Given the description of an element on the screen output the (x, y) to click on. 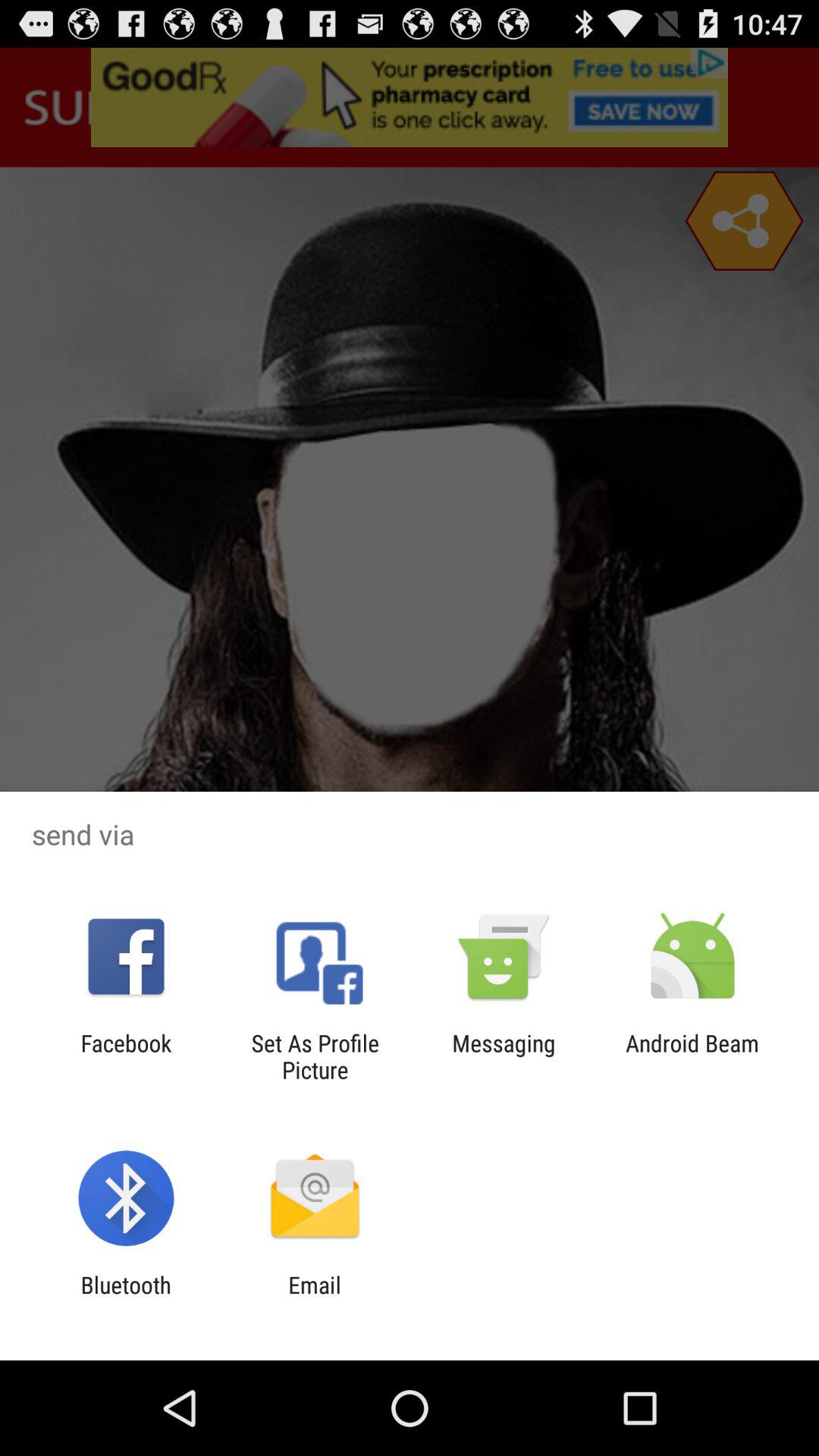
press app next to set as profile (125, 1056)
